Given the description of an element on the screen output the (x, y) to click on. 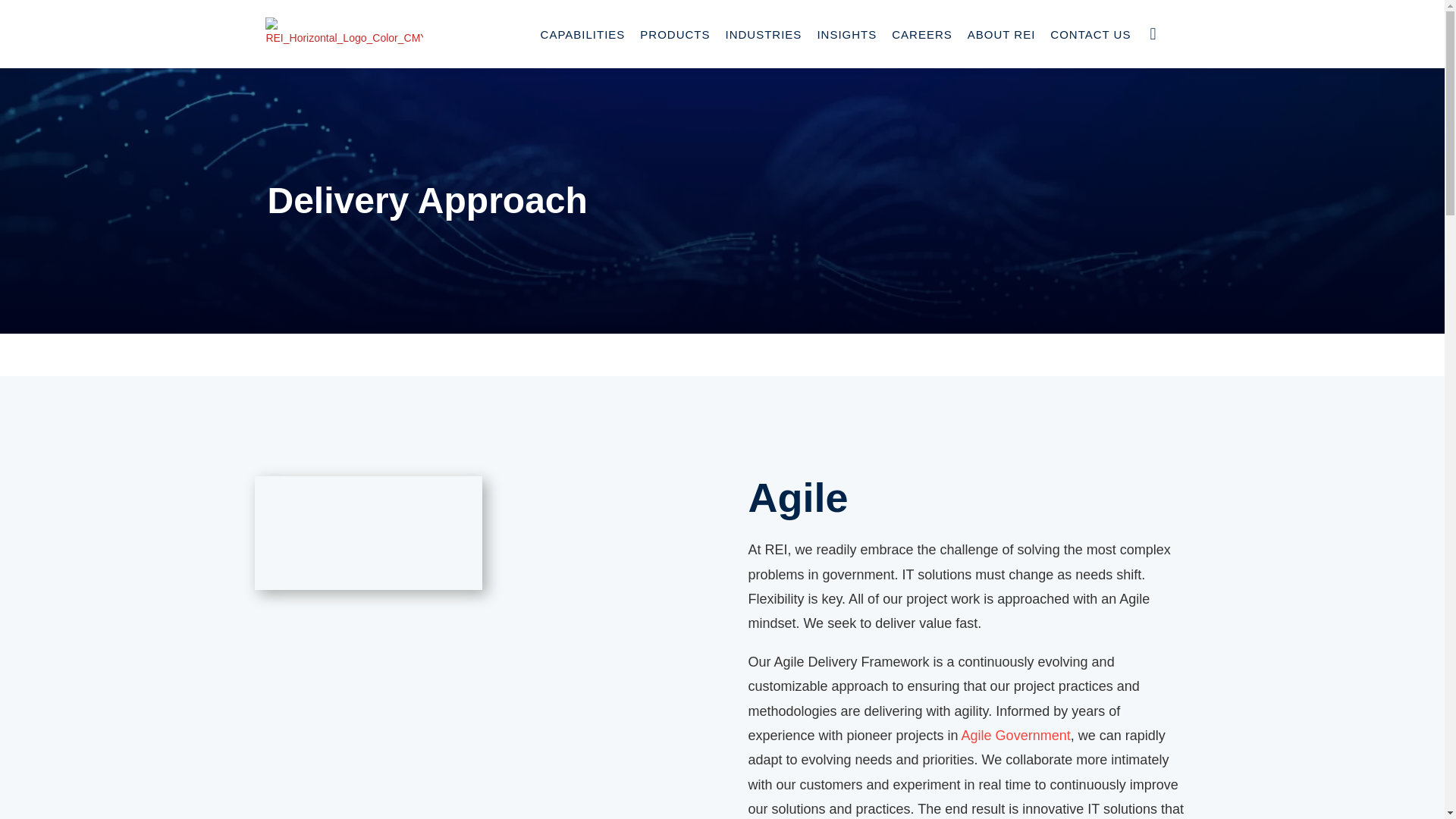
PRODUCTS (675, 33)
INDUSTRIES (763, 33)
CAPABILITIES (583, 33)
INSIGHTS (846, 33)
2 (367, 532)
